Given the description of an element on the screen output the (x, y) to click on. 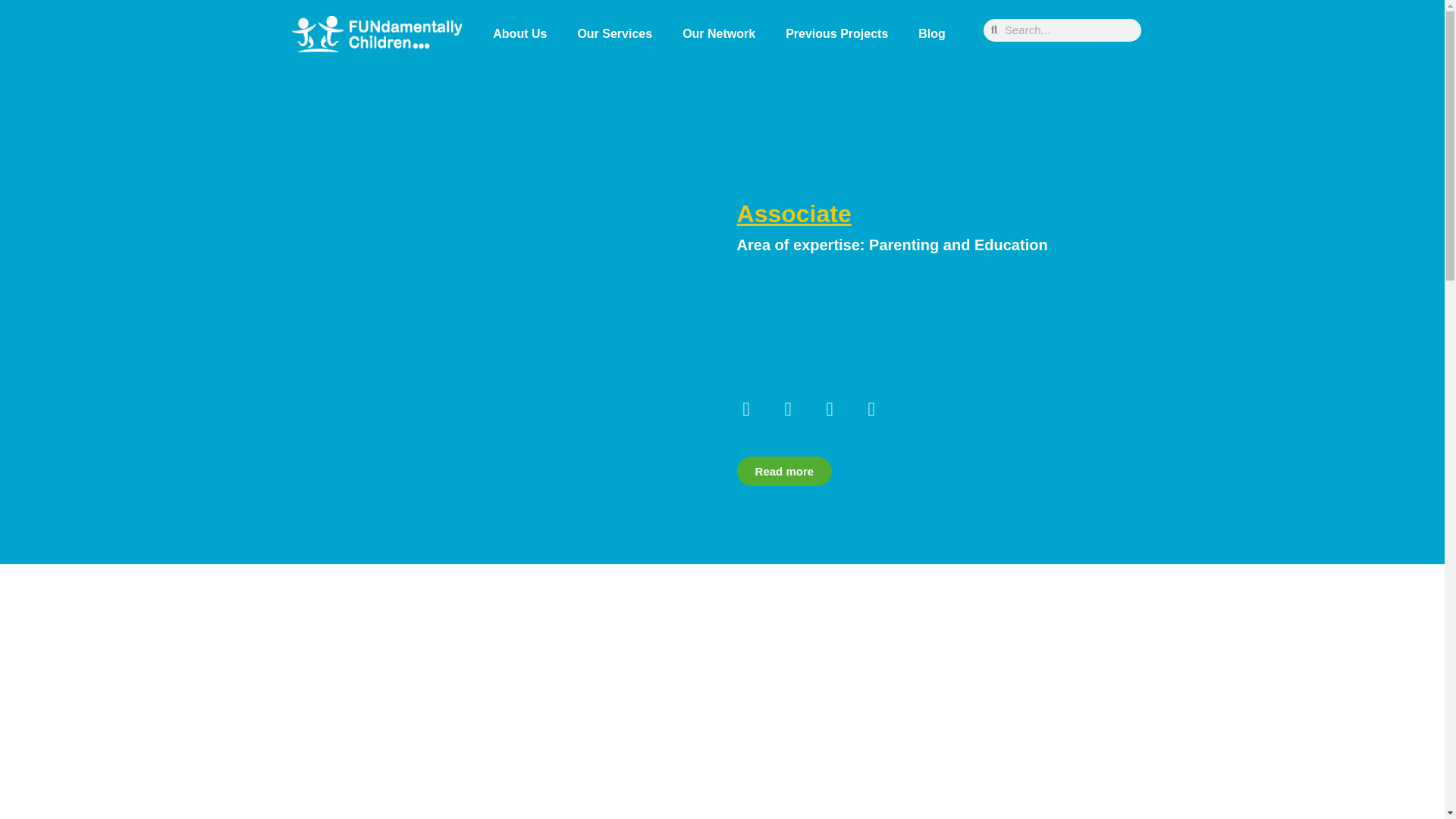
About Us (519, 33)
Previous Projects (836, 33)
Our Network (718, 33)
Blog (931, 33)
Our Services (614, 33)
